Given the description of an element on the screen output the (x, y) to click on. 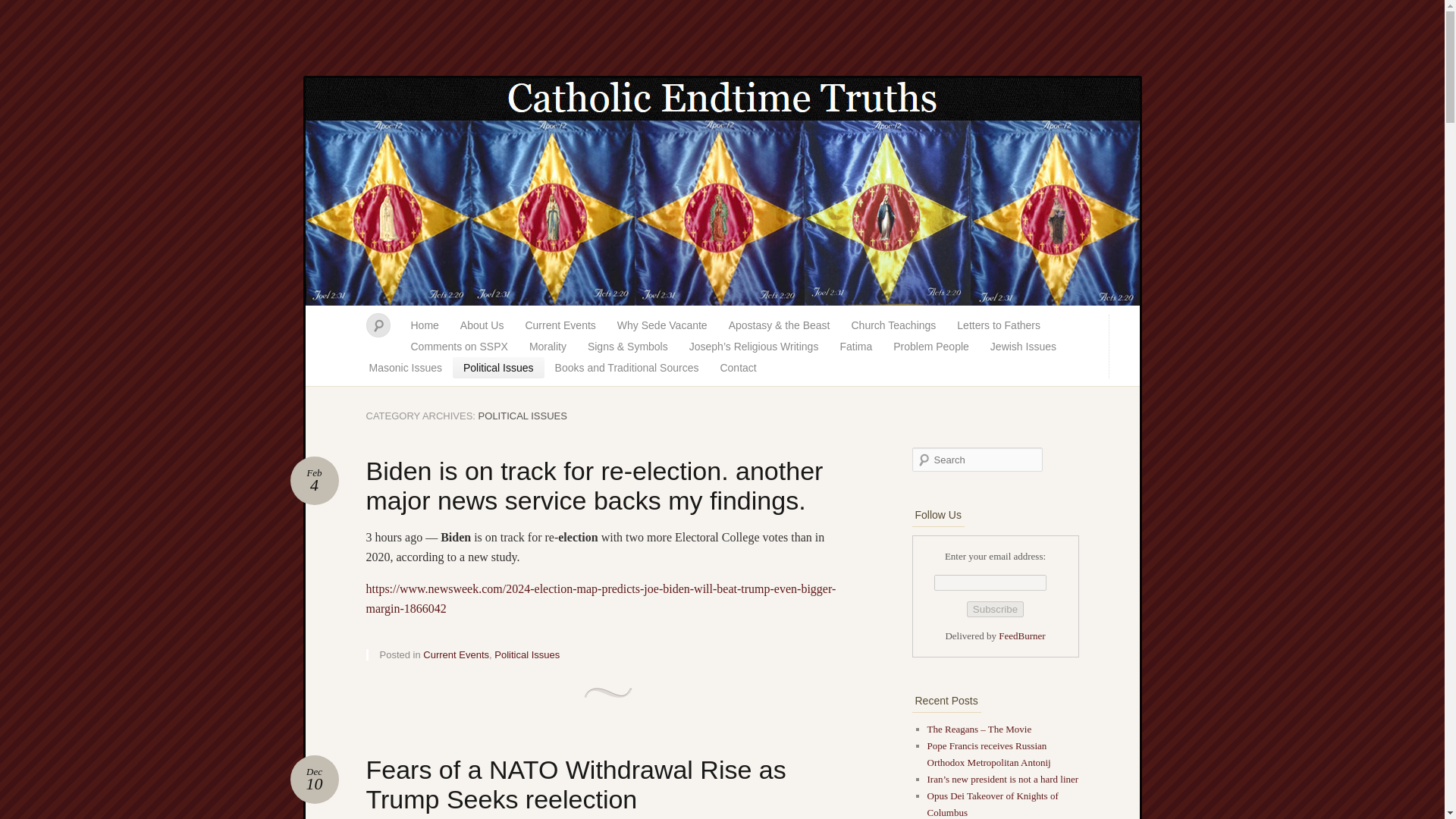
Current Events (313, 480)
Home (456, 654)
Fears of a NATO Withdrawal Rise as Trump Seeks reelection (424, 324)
Problem People (575, 784)
Contact (930, 346)
Masonic Issues (738, 367)
December 10 2023 (404, 367)
